Given the description of an element on the screen output the (x, y) to click on. 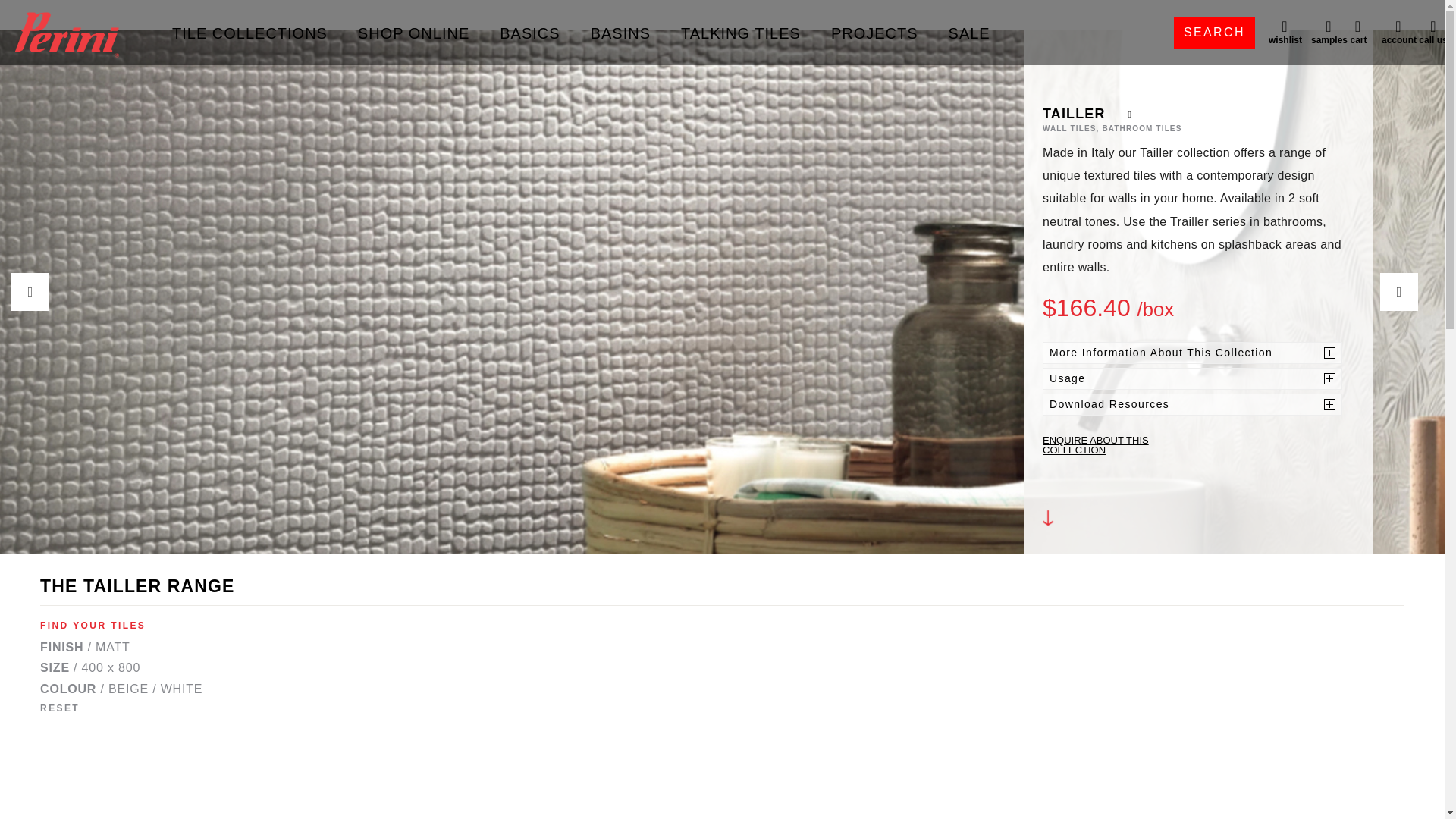
My Wishlist (1283, 31)
Sale (969, 33)
Tile Collections (249, 33)
Basics (529, 33)
View the range (1049, 530)
Search (1214, 32)
Basins (620, 33)
Projects (874, 33)
Talking Tiles (740, 33)
Shop Online (413, 33)
My Account (1396, 31)
TILE COLLECTIONS (249, 33)
Samples (1326, 31)
